Given the description of an element on the screen output the (x, y) to click on. 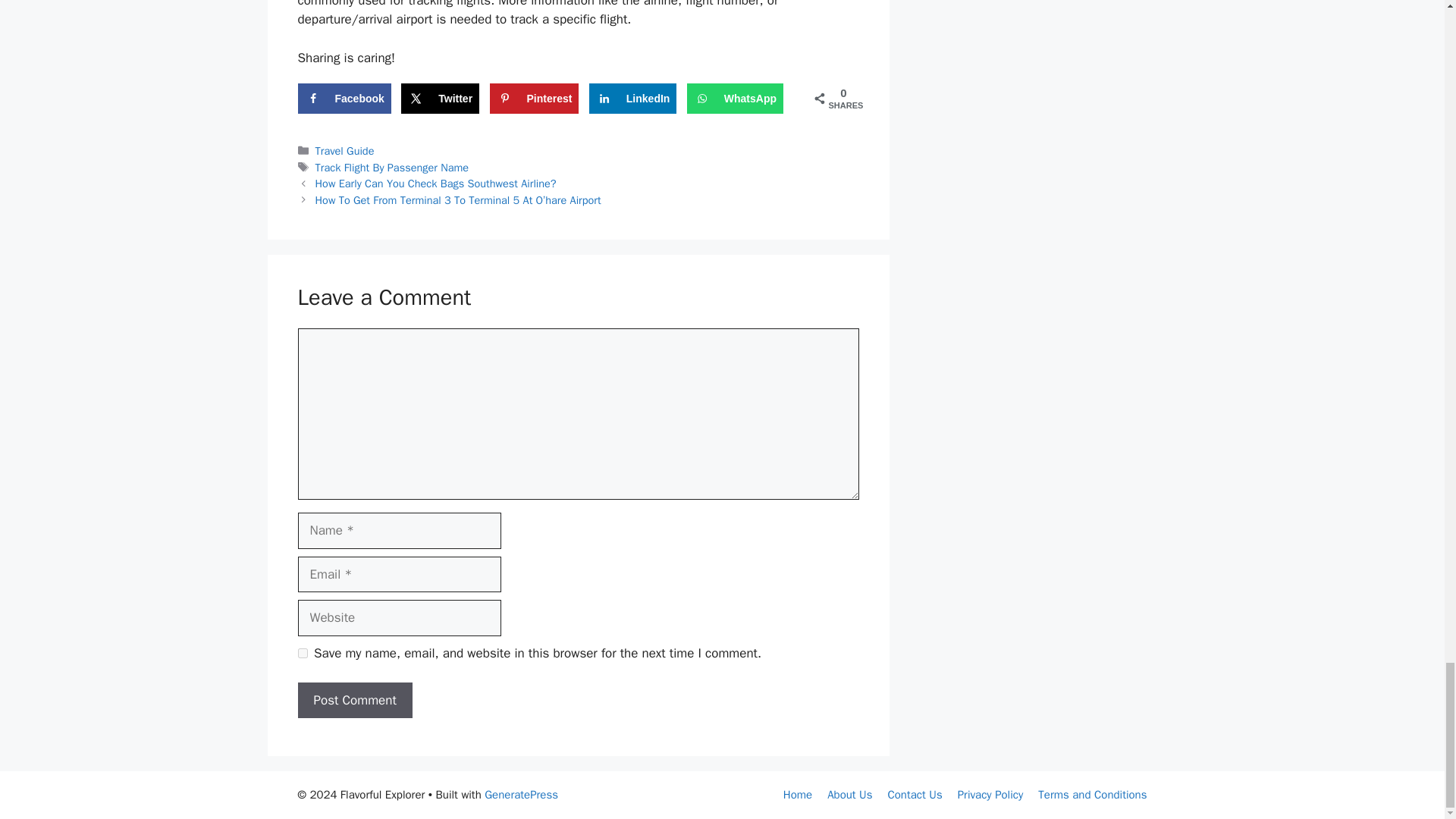
Post Comment (354, 699)
How Early Can You Check Bags Southwest Airline? (435, 183)
WhatsApp (735, 98)
Track Flight By Passenger Name (391, 167)
Post Comment (354, 699)
Facebook (343, 98)
LinkedIn (633, 98)
Share on Facebook (343, 98)
Pinterest (534, 98)
Share on X (440, 98)
Save to Pinterest (534, 98)
yes (302, 653)
Travel Guide (344, 151)
Twitter (440, 98)
Share on WhatsApp (735, 98)
